Given the description of an element on the screen output the (x, y) to click on. 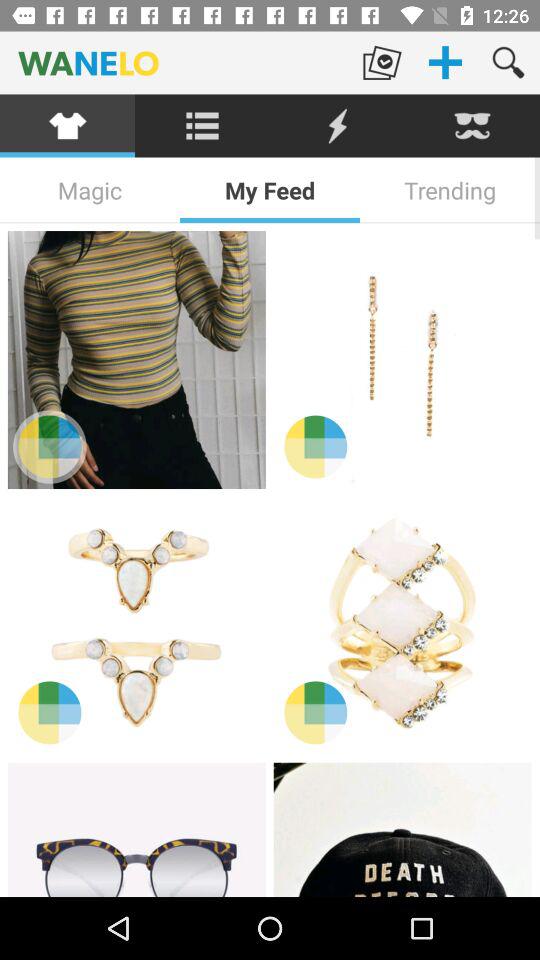
view list (202, 125)
